Given the description of an element on the screen output the (x, y) to click on. 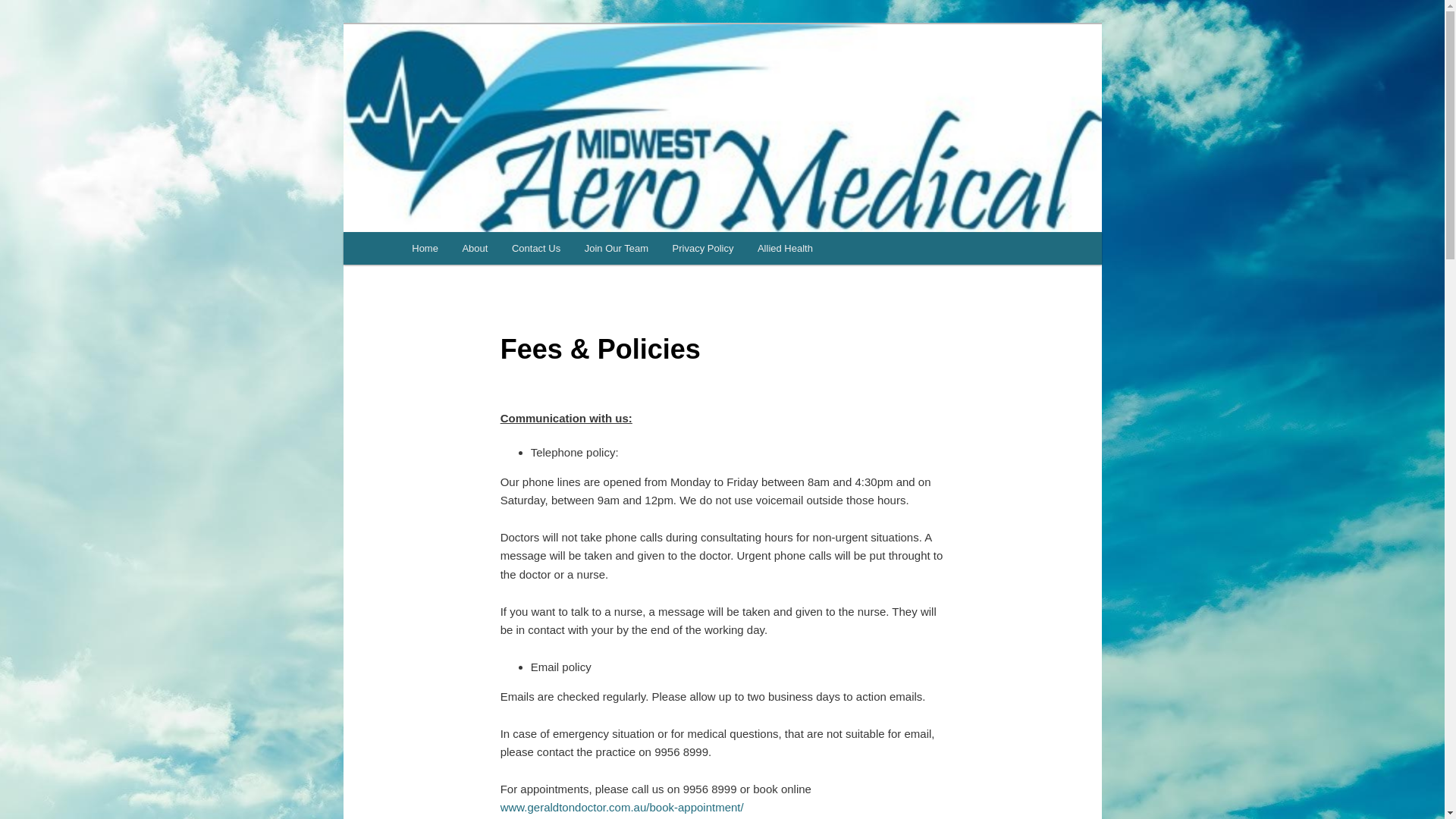
Home Element type: text (425, 248)
Contact Us Element type: text (535, 248)
www.geraldtondoctor.com.au/book-appointment/ Element type: text (621, 806)
Join Our Team Element type: text (616, 248)
Privacy Policy Element type: text (702, 248)
Allied Health Element type: text (785, 248)
About Element type: text (474, 248)
